Given the description of an element on the screen output the (x, y) to click on. 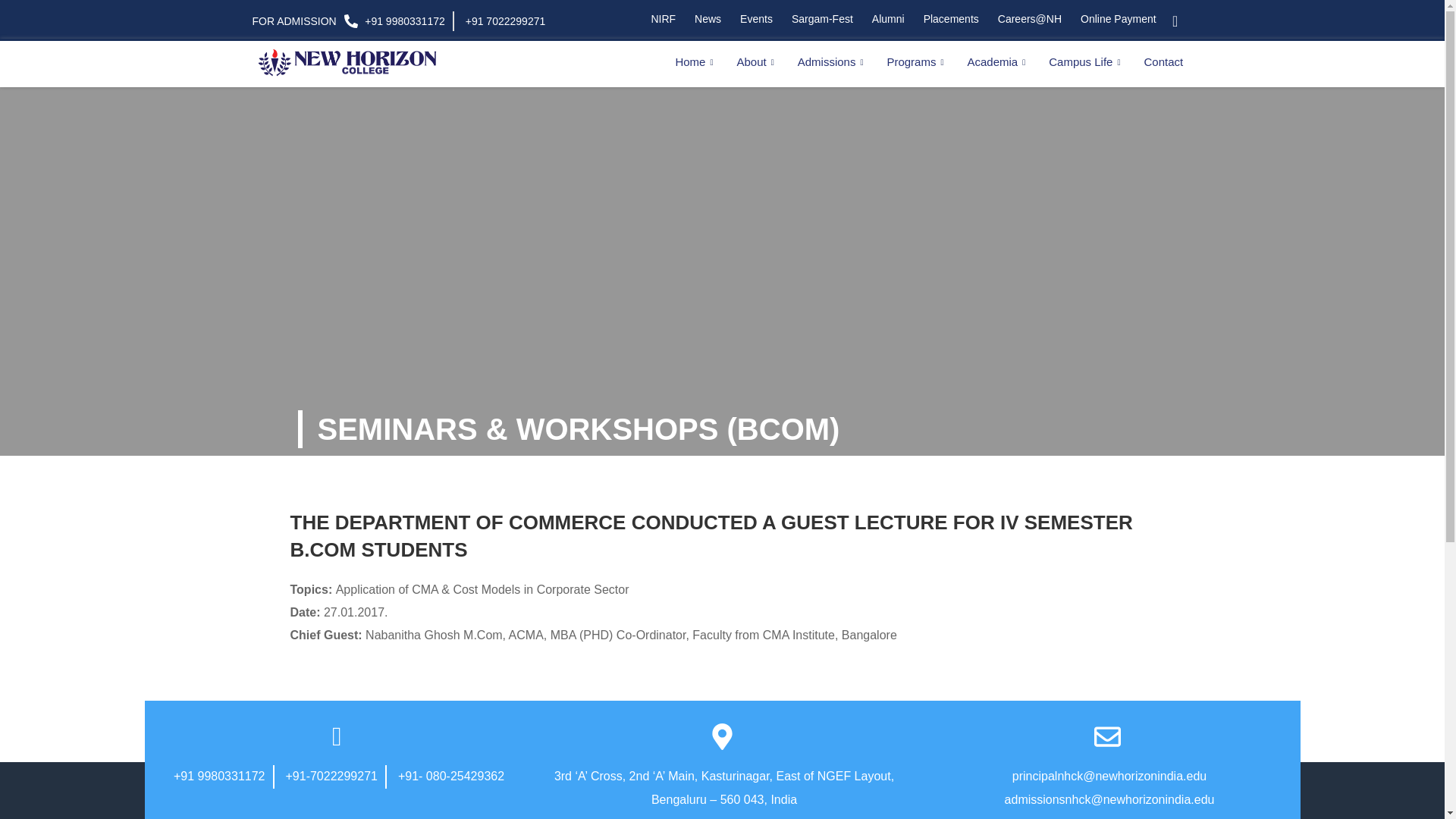
NIRF (660, 19)
News (705, 19)
Sargam-Fest (820, 19)
Online Payment (1116, 19)
Events (754, 19)
Home (695, 62)
Alumni (885, 19)
About (756, 62)
Placements (949, 19)
